Given the description of an element on the screen output the (x, y) to click on. 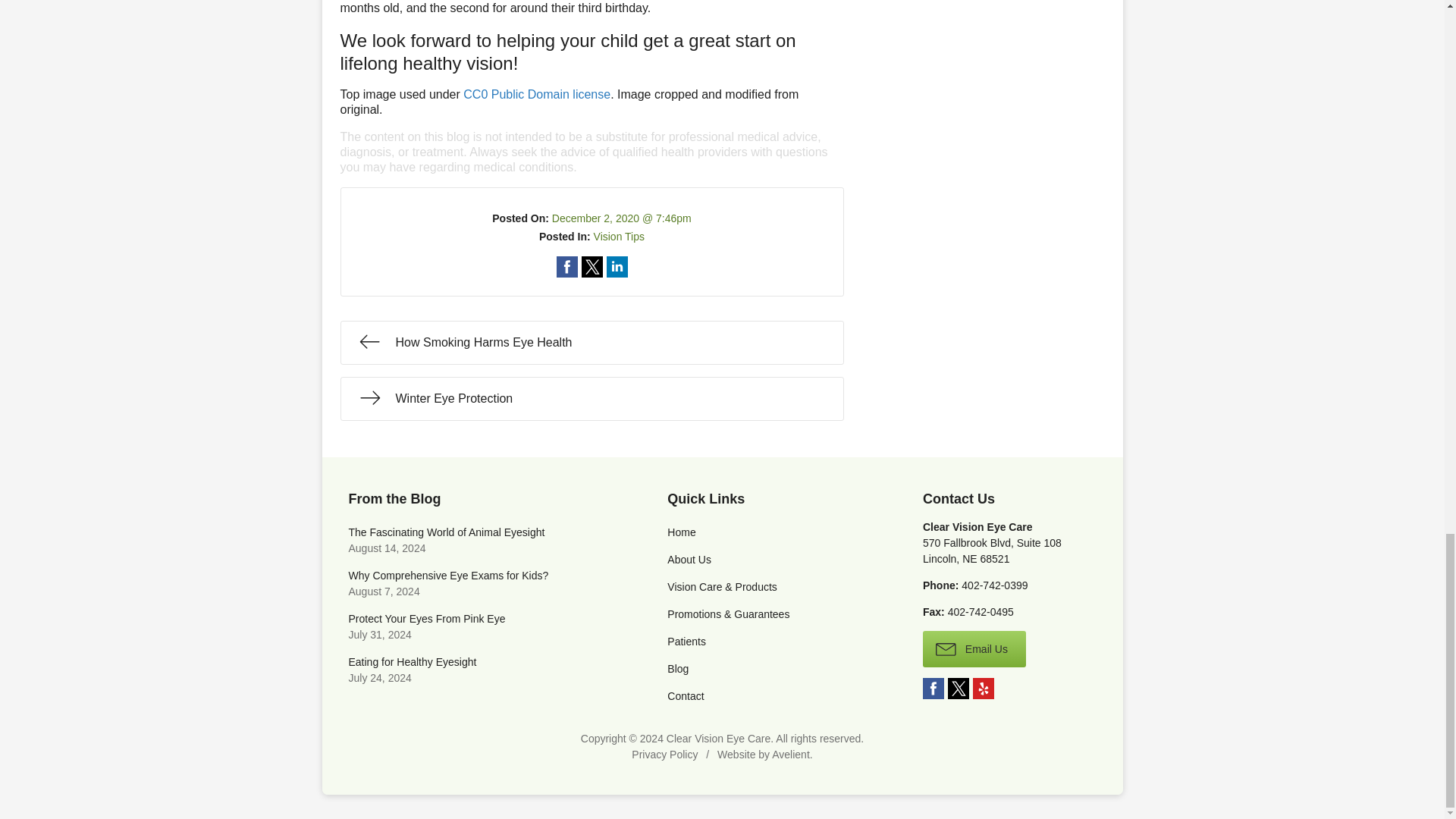
How Smoking Harms Eye Health (591, 342)
CC0 Public Domain license (536, 93)
Share on Facebook (567, 266)
Share on Facebook (567, 266)
Share on Twitter (591, 266)
Open this address in Google Maps (992, 551)
Share on LinkedIn (617, 266)
Contact practice (993, 585)
Share on LinkedIn (617, 266)
Share on Twitter (591, 266)
